Given the description of an element on the screen output the (x, y) to click on. 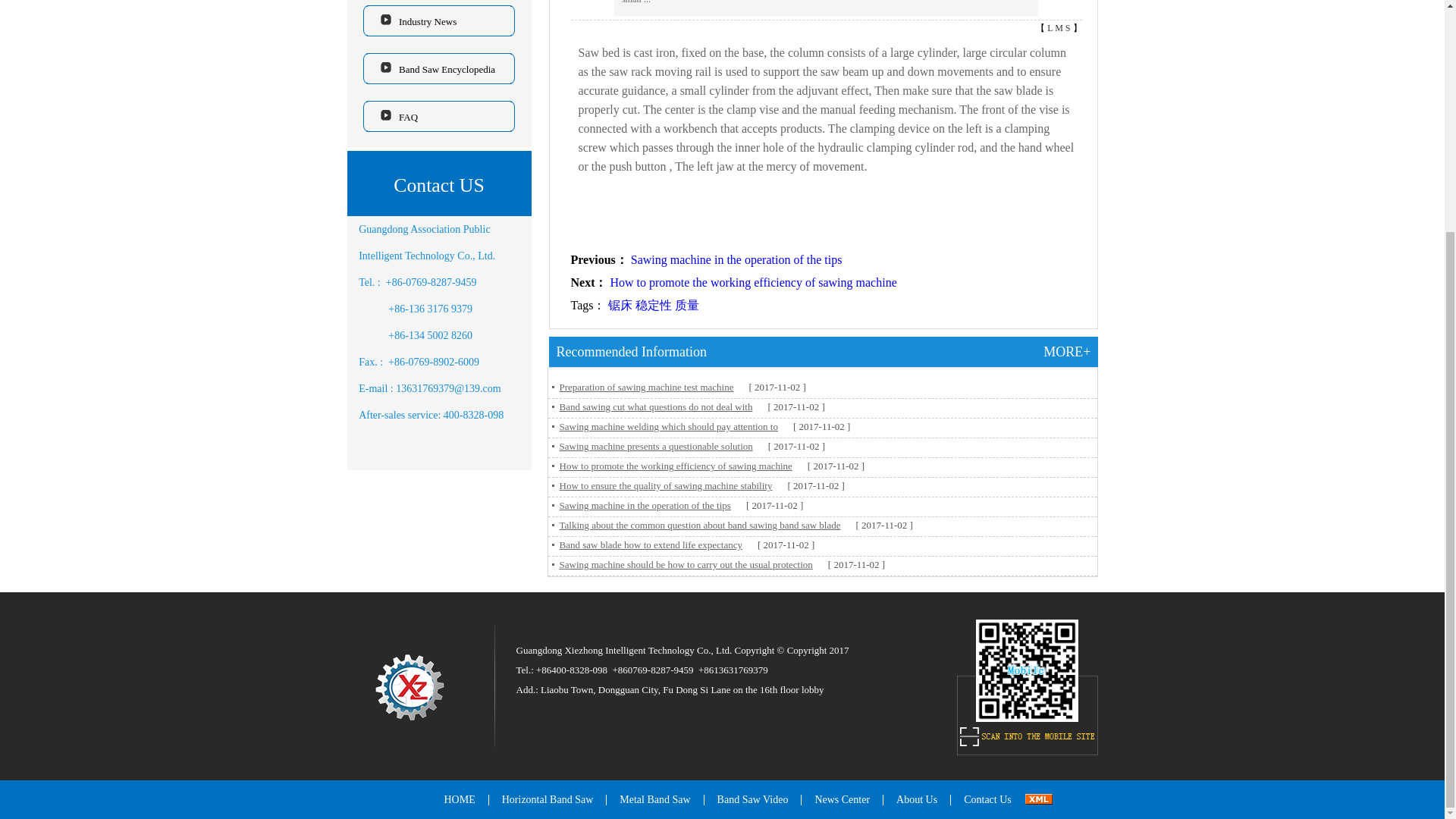
Sawing machine in the operation of the tips (736, 259)
Band Saw Encyclopedia (438, 68)
FAQ (438, 115)
Band sawing cut what questions do not deal with (651, 406)
S (1069, 27)
Preparation of sawing machine test machine (642, 386)
L (1049, 27)
M (1059, 27)
Industry News (438, 20)
Sawing machine welding which should pay attention to (664, 426)
How to promote the working efficiency of sawing machine (753, 282)
